Given the description of an element on the screen output the (x, y) to click on. 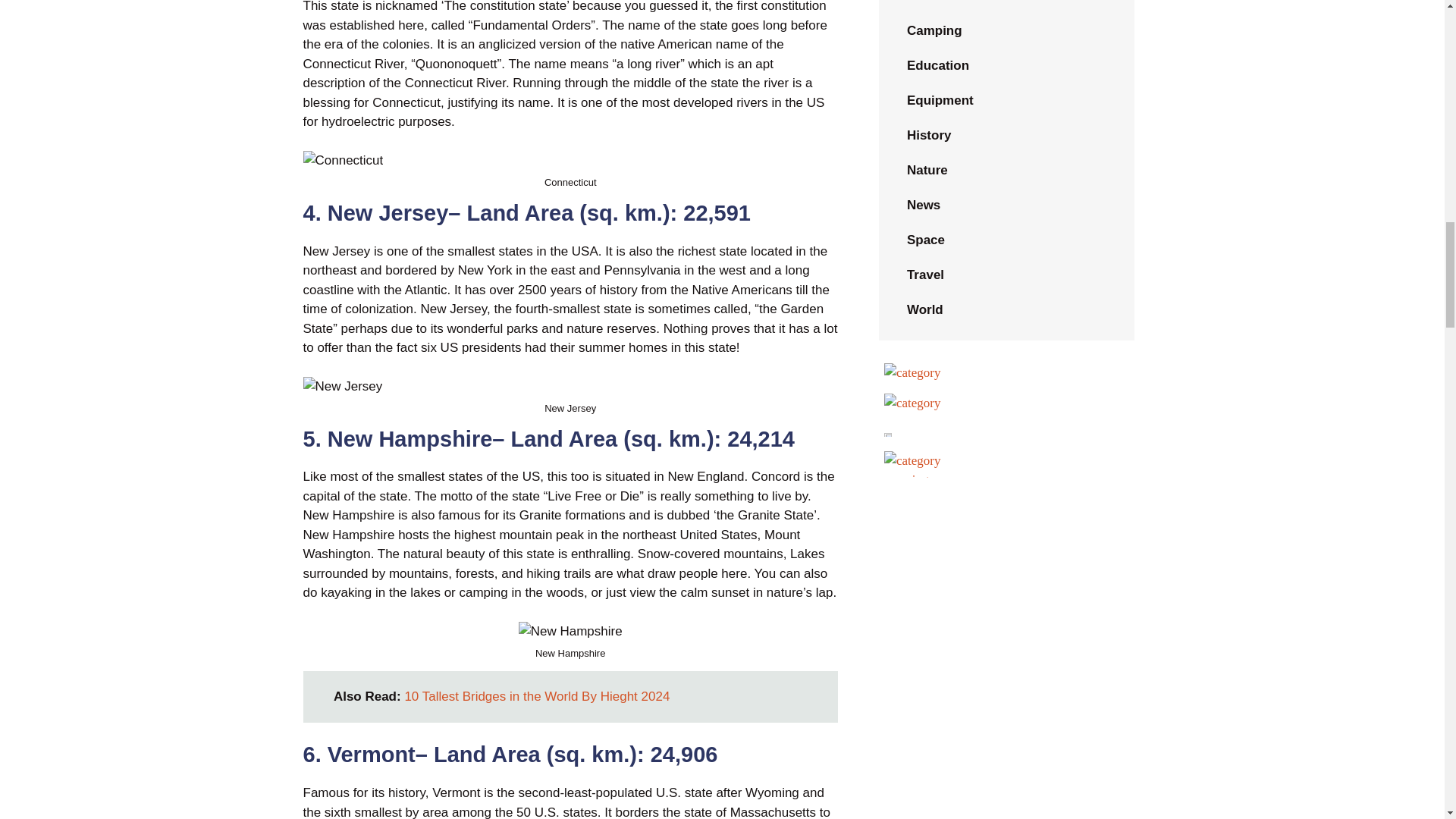
10 Tallest Bridges in the World By Hieght 2024 (536, 696)
